Given the description of an element on the screen output the (x, y) to click on. 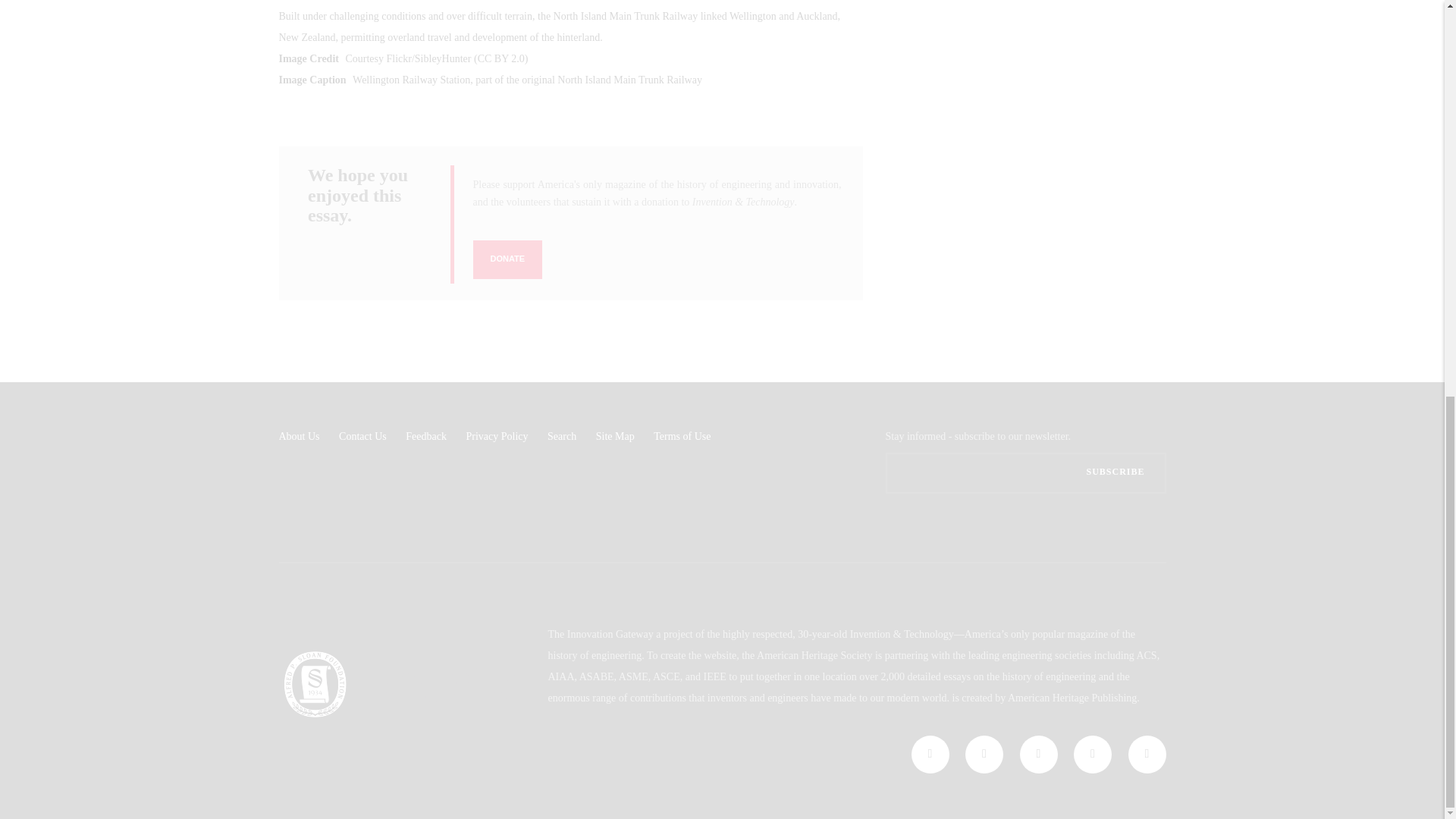
Subscribe (1114, 472)
